Given the description of an element on the screen output the (x, y) to click on. 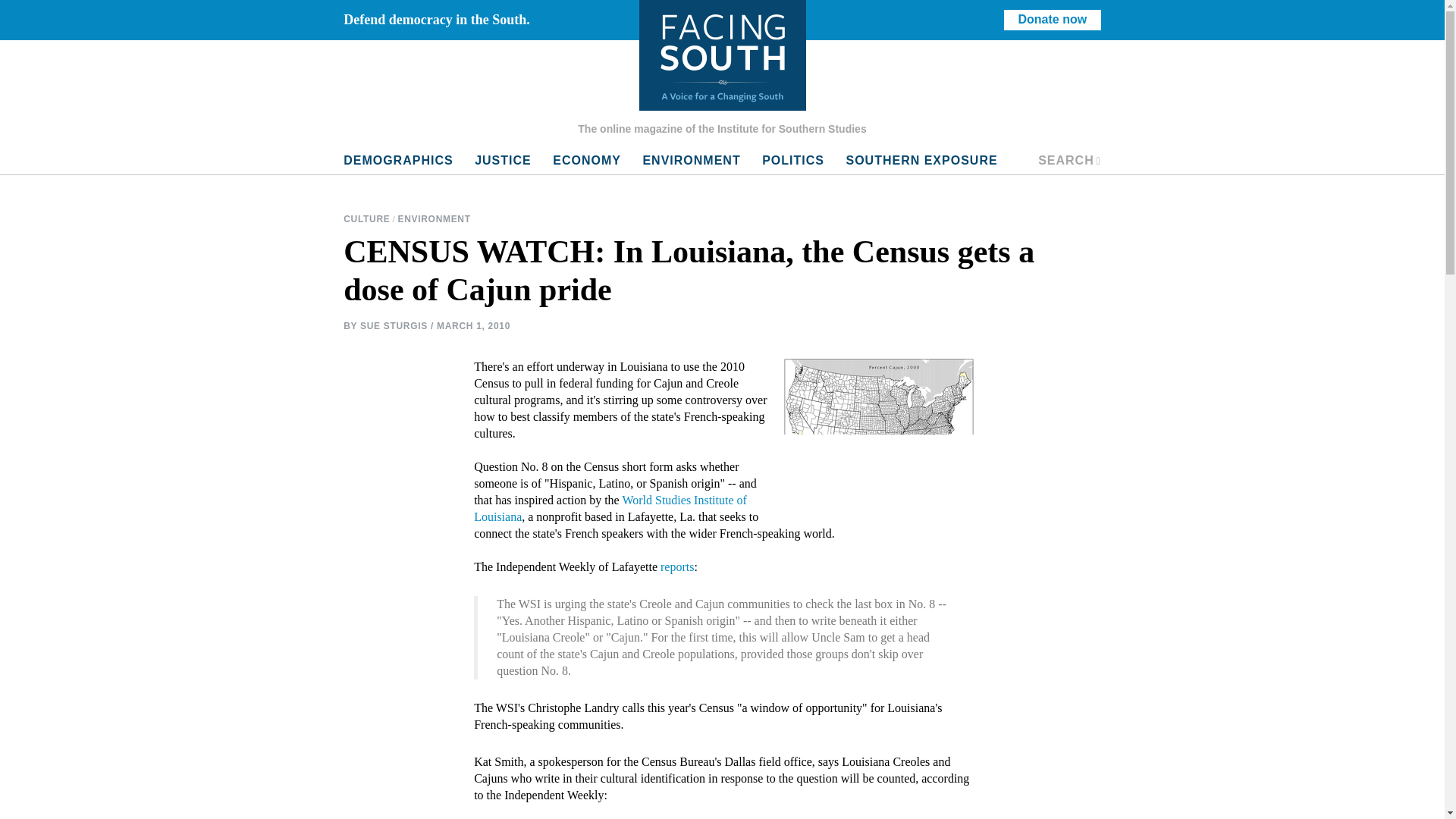
SUE STURGIS (393, 325)
ENVIRONMENT (432, 219)
POLITICS (792, 160)
Home (722, 55)
JUSTICE (502, 160)
ECONOMY (1069, 160)
ENVIRONMENT (586, 160)
Skip to main content (691, 160)
